Given the description of an element on the screen output the (x, y) to click on. 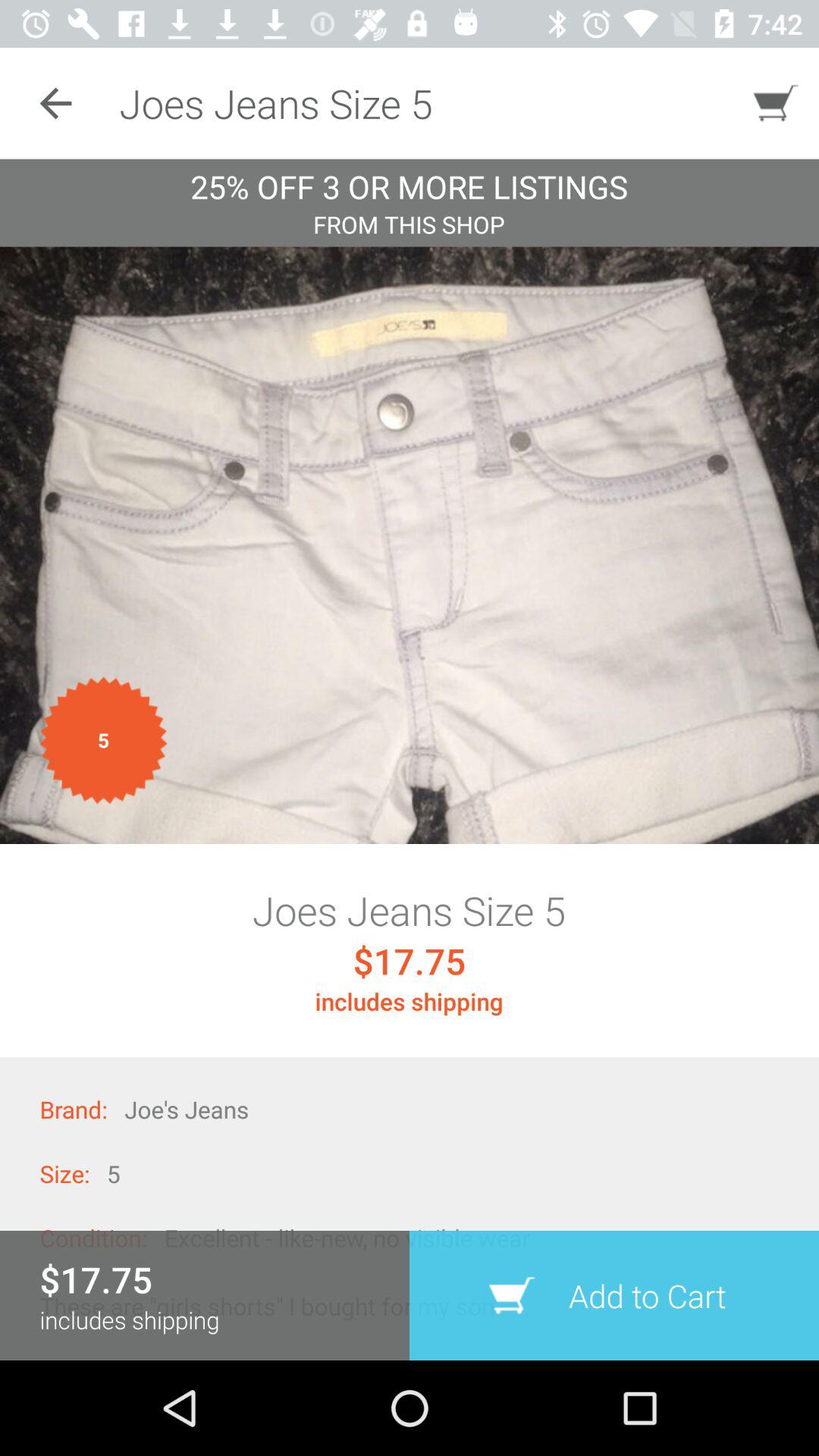
flip until add to cart (614, 1295)
